Given the description of an element on the screen output the (x, y) to click on. 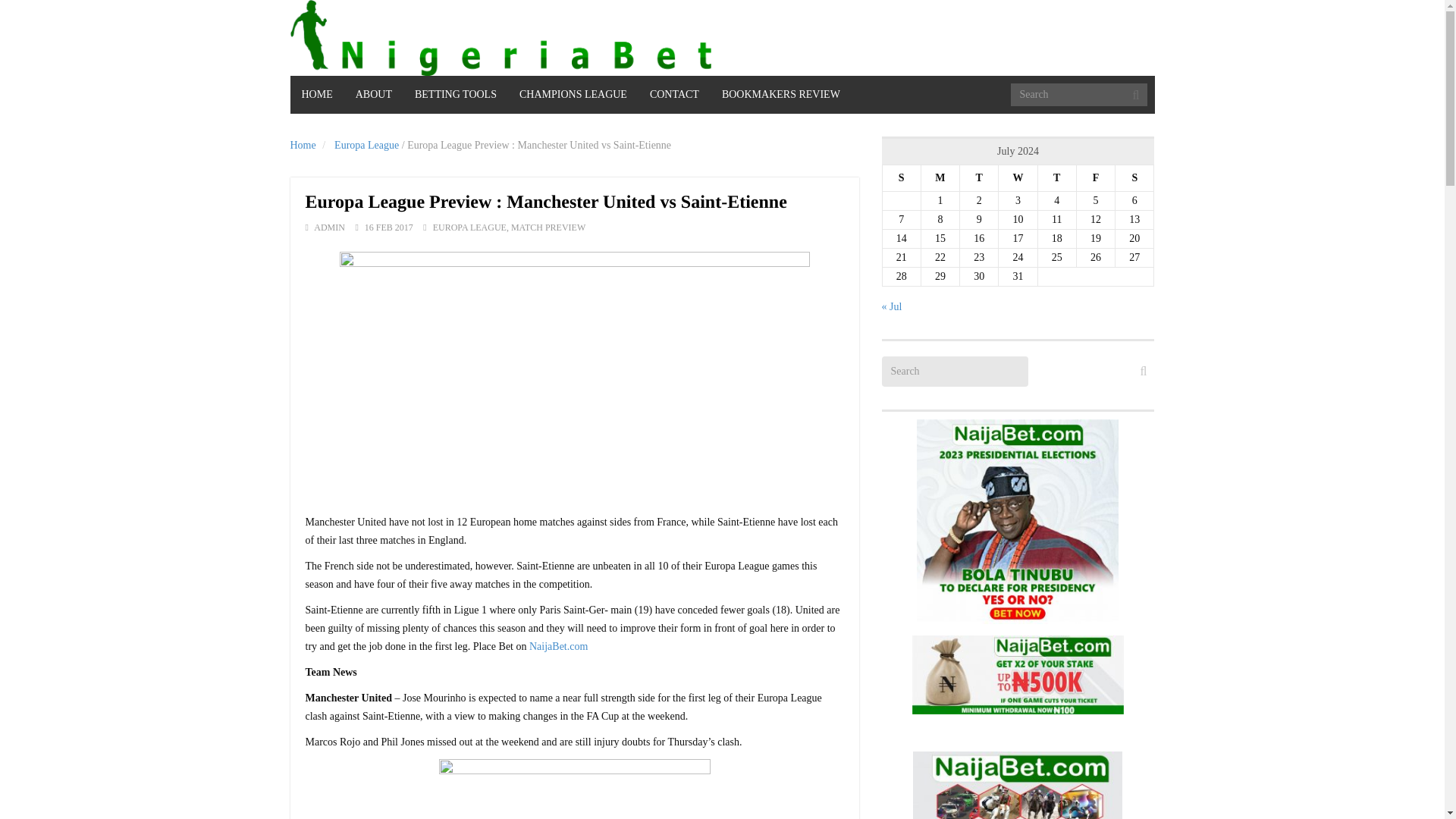
EUROPA LEAGUE (469, 226)
CHAMPIONS LEAGUE (573, 94)
HOME (316, 94)
Thursday (1055, 178)
BETTING TOOLS (455, 94)
BOOKMAKERS REVIEW (780, 94)
NaijaBet.com (558, 645)
ABOUT (373, 94)
ADMIN (329, 226)
Posts by admin (329, 226)
Europa League (366, 144)
CONTACT (674, 94)
Friday (1095, 178)
Wednesday (1017, 178)
Monday (939, 178)
